Given the description of an element on the screen output the (x, y) to click on. 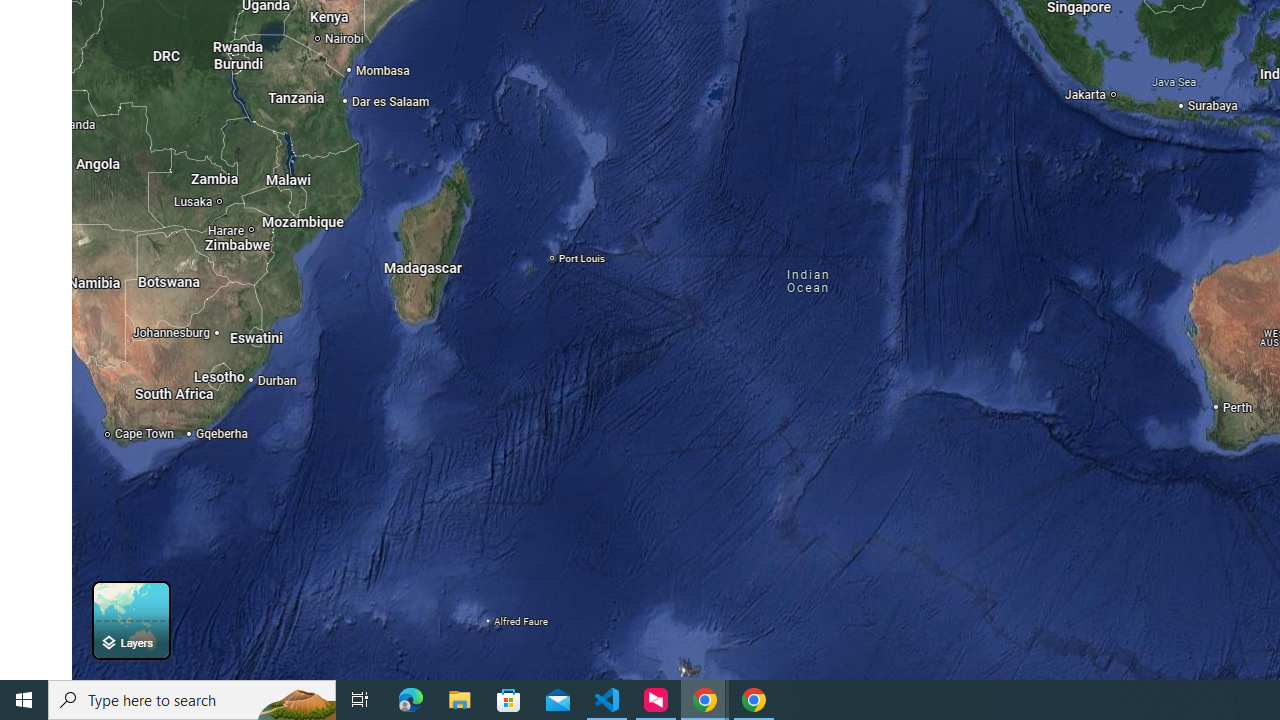
Layers (130, 620)
